Given the description of an element on the screen output the (x, y) to click on. 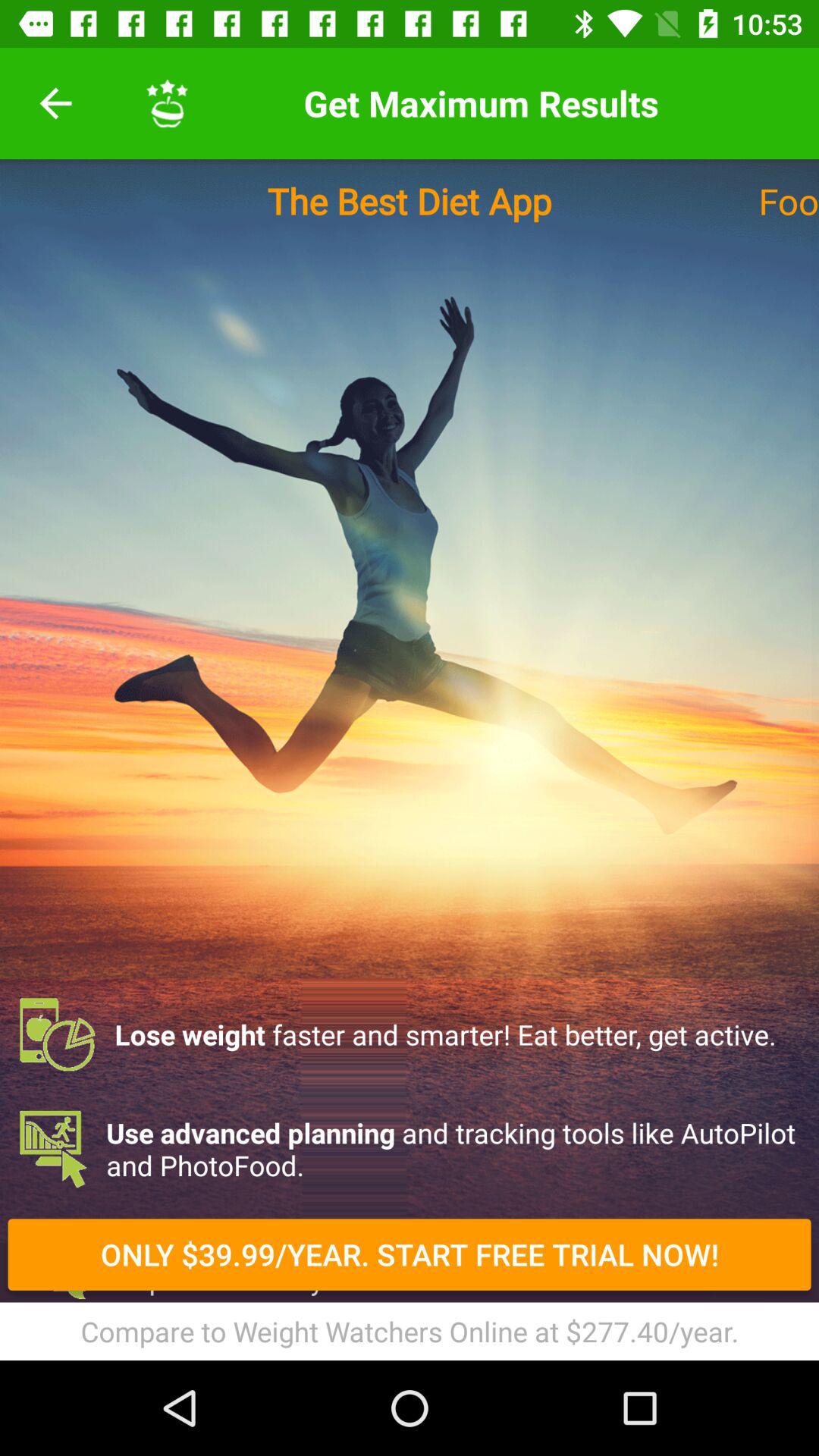
choose the item below use advanced planning (409, 1254)
